Given the description of an element on the screen output the (x, y) to click on. 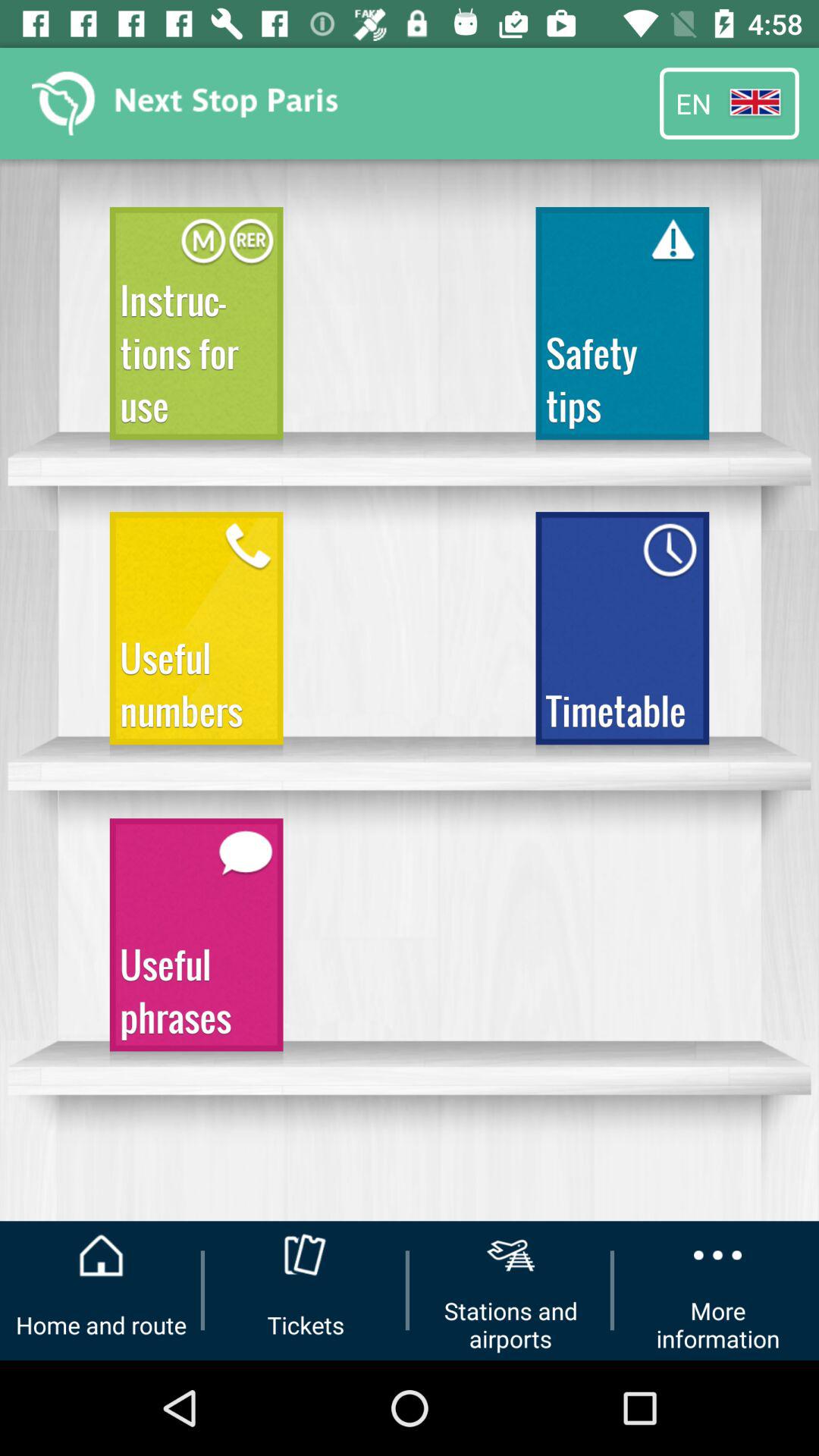
choose the icon above the useful numbers icon (196, 330)
